Given the description of an element on the screen output the (x, y) to click on. 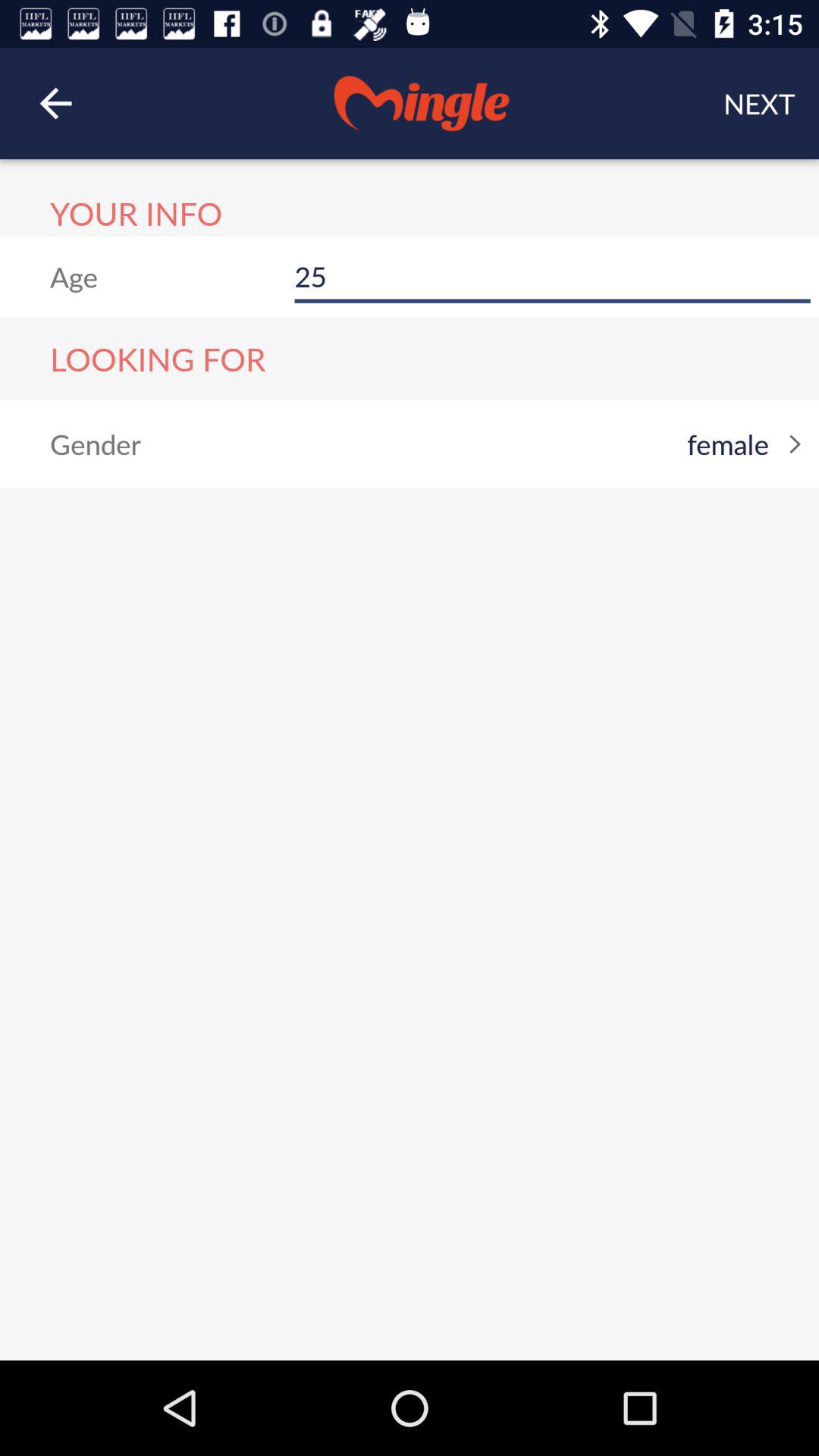
choose icon next to age icon (552, 276)
